Given the description of an element on the screen output the (x, y) to click on. 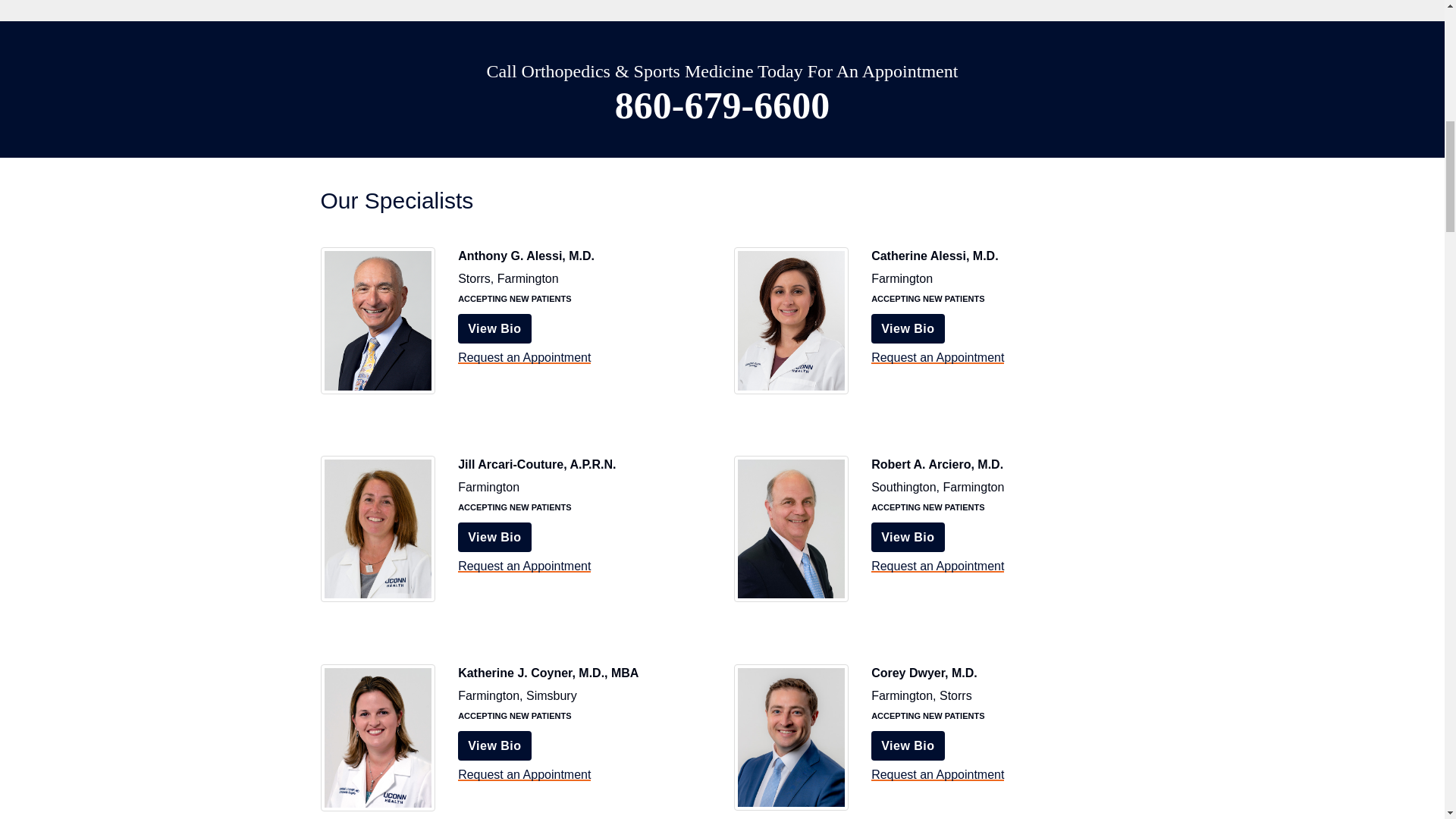
Request an Appointment (524, 357)
Request an Appointment (937, 565)
View Bio (906, 328)
Request an Appointment (524, 774)
View Bio (494, 745)
View Bio (906, 537)
Request an Appointment (937, 357)
View Bio (906, 745)
View Bio (494, 328)
View Bio (494, 537)
